Given the description of an element on the screen output the (x, y) to click on. 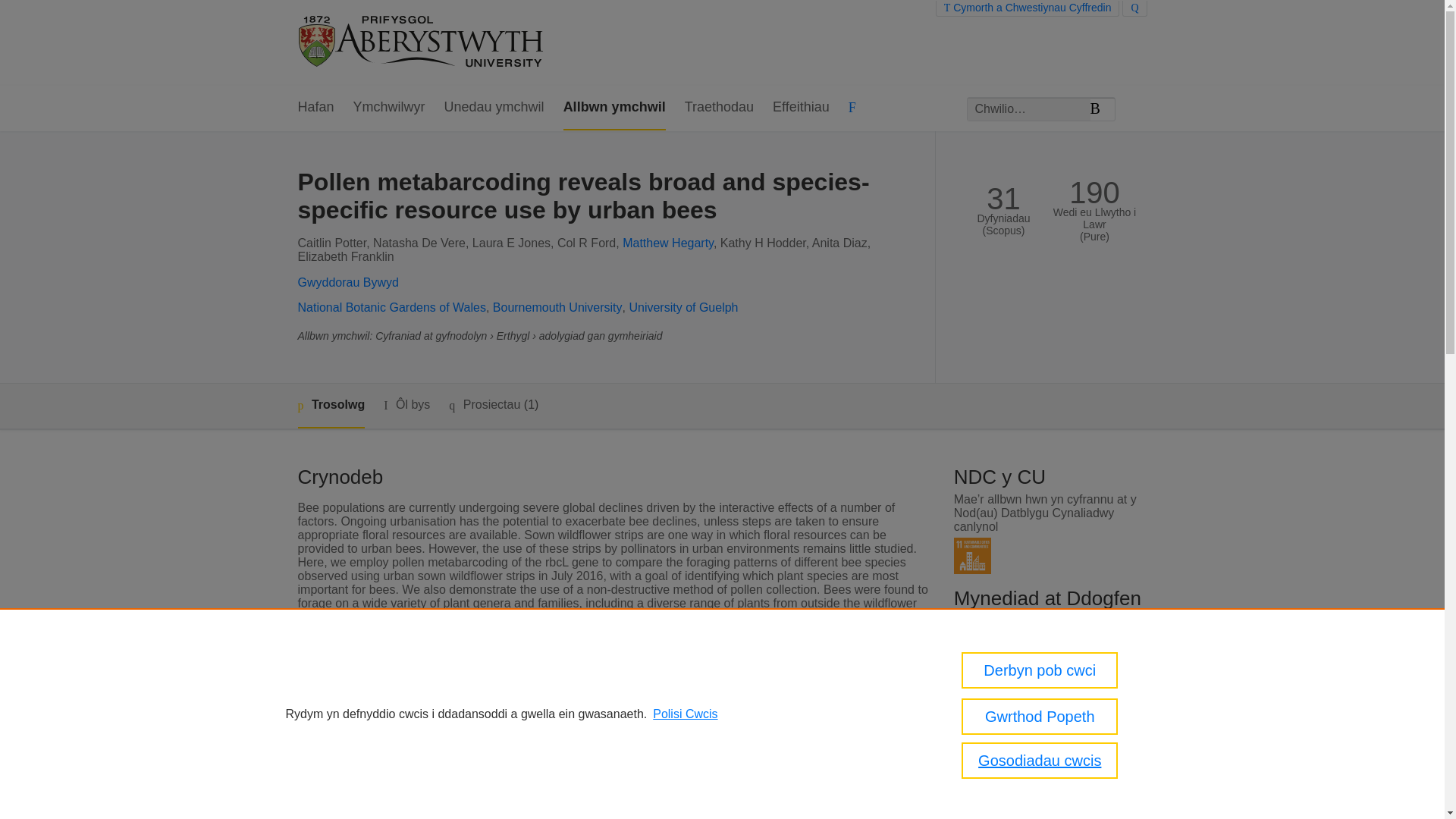
Matthew Hegarty (668, 242)
Bournemouth University (558, 307)
Dolen barhaus (1007, 792)
University of Guelph (683, 307)
CC BY (1029, 635)
Ymchwilwyr (389, 107)
Porth Ymchwil Aberystwyth Hafan (422, 42)
Trosolwg (331, 406)
Traethodau (719, 107)
Cymorth a Chwestiynau Cyffredin (1027, 7)
Gwyddorau Bywyd (347, 282)
PeerJ (528, 748)
NDC 11 - Dinasoedd a Chymunedau Cynaliadwy (972, 555)
CC BY (1029, 734)
